Given the description of an element on the screen output the (x, y) to click on. 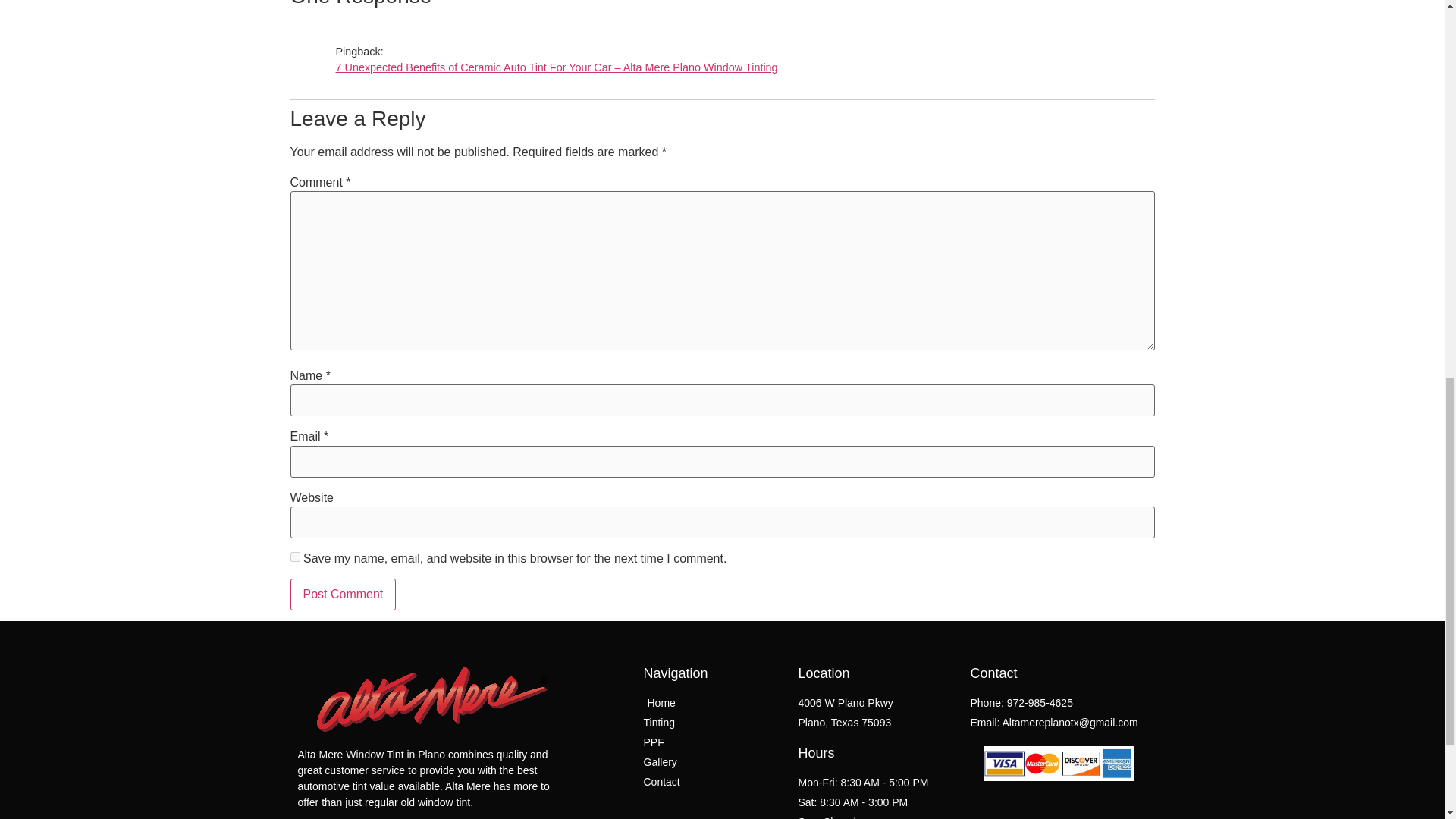
PPF (713, 742)
Contact (713, 781)
Home (713, 703)
Post Comment (342, 594)
Gallery (713, 762)
yes (294, 556)
Post Comment (342, 594)
Tinting (713, 722)
